Given the description of an element on the screen output the (x, y) to click on. 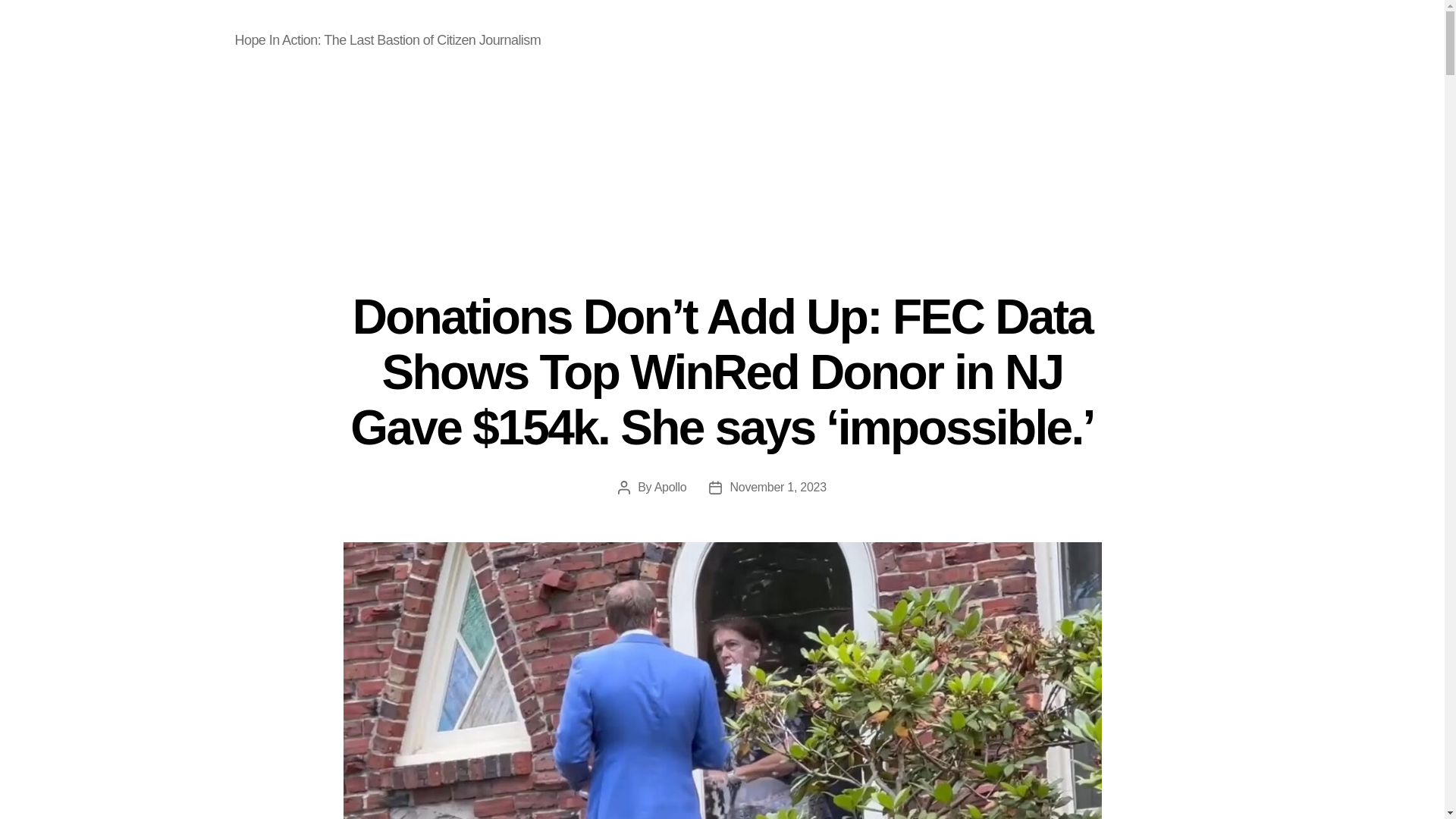
Menu (1327, 39)
Apollo (670, 486)
November 1, 2023 (777, 486)
